Given the description of an element on the screen output the (x, y) to click on. 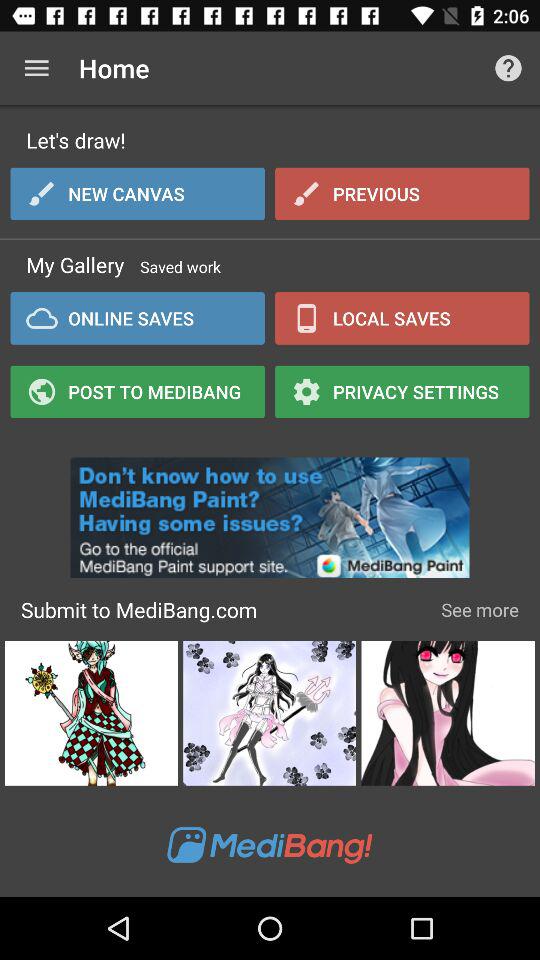
how to use medibang paint (270, 512)
